Given the description of an element on the screen output the (x, y) to click on. 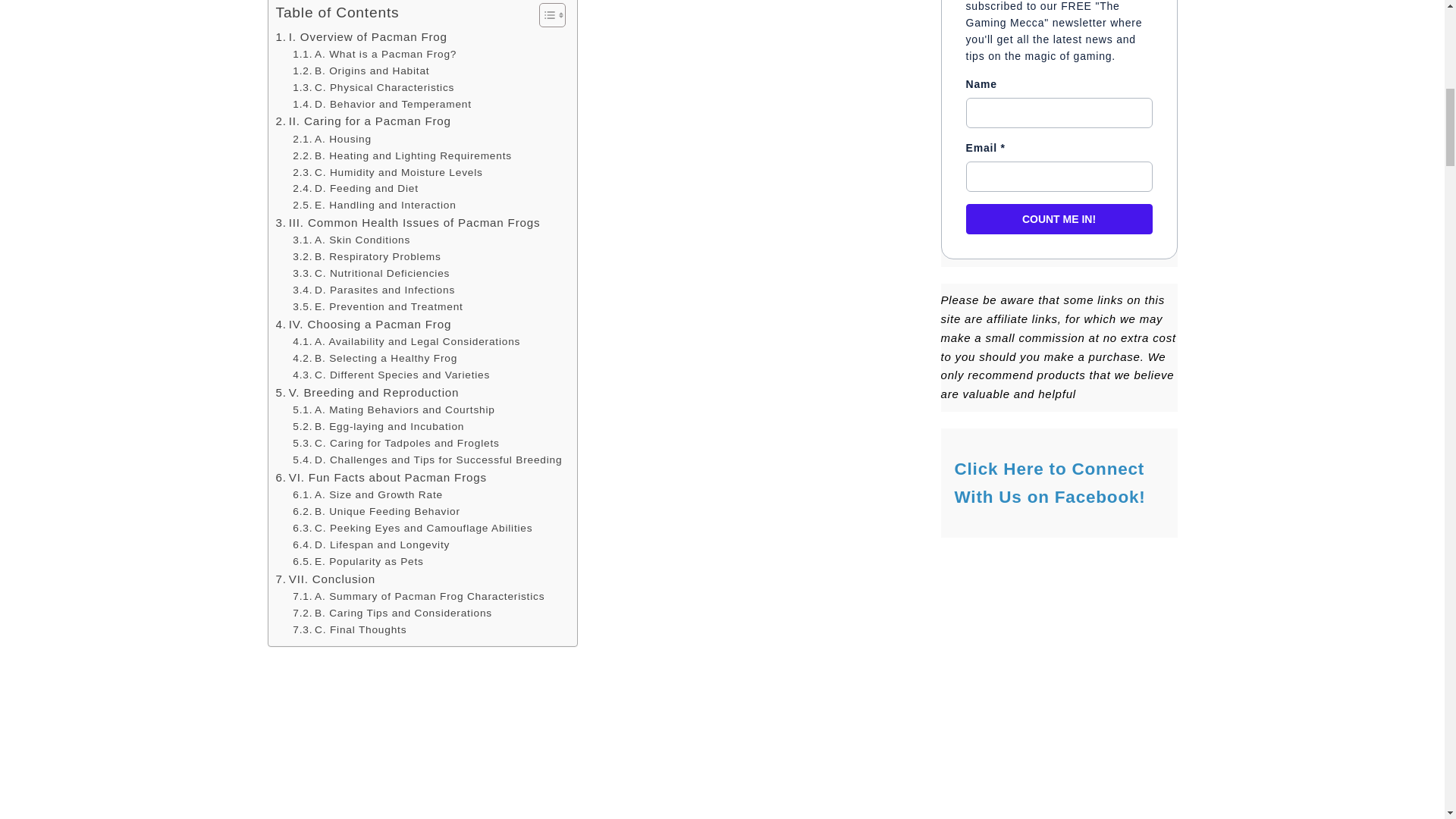
C. Physical Characteristics (373, 87)
C. Nutritional Deficiencies (370, 273)
A. Skin Conditions (351, 239)
I. Overview of Pacman Frog (361, 36)
B. Respiratory Problems (366, 256)
B. Origins and Habitat (360, 71)
II. Caring for a Pacman Frog (363, 121)
A. What is a Pacman Frog? (374, 54)
D. Feeding and Diet (355, 188)
B. Heating and Lighting Requirements (402, 156)
D. Behavior and Temperament (381, 104)
III. Common Health Issues of Pacman Frogs (408, 222)
A. What is a Pacman Frog? (374, 54)
D. Behavior and Temperament (381, 104)
I. Overview of Pacman Frog (361, 36)
